Given the description of an element on the screen output the (x, y) to click on. 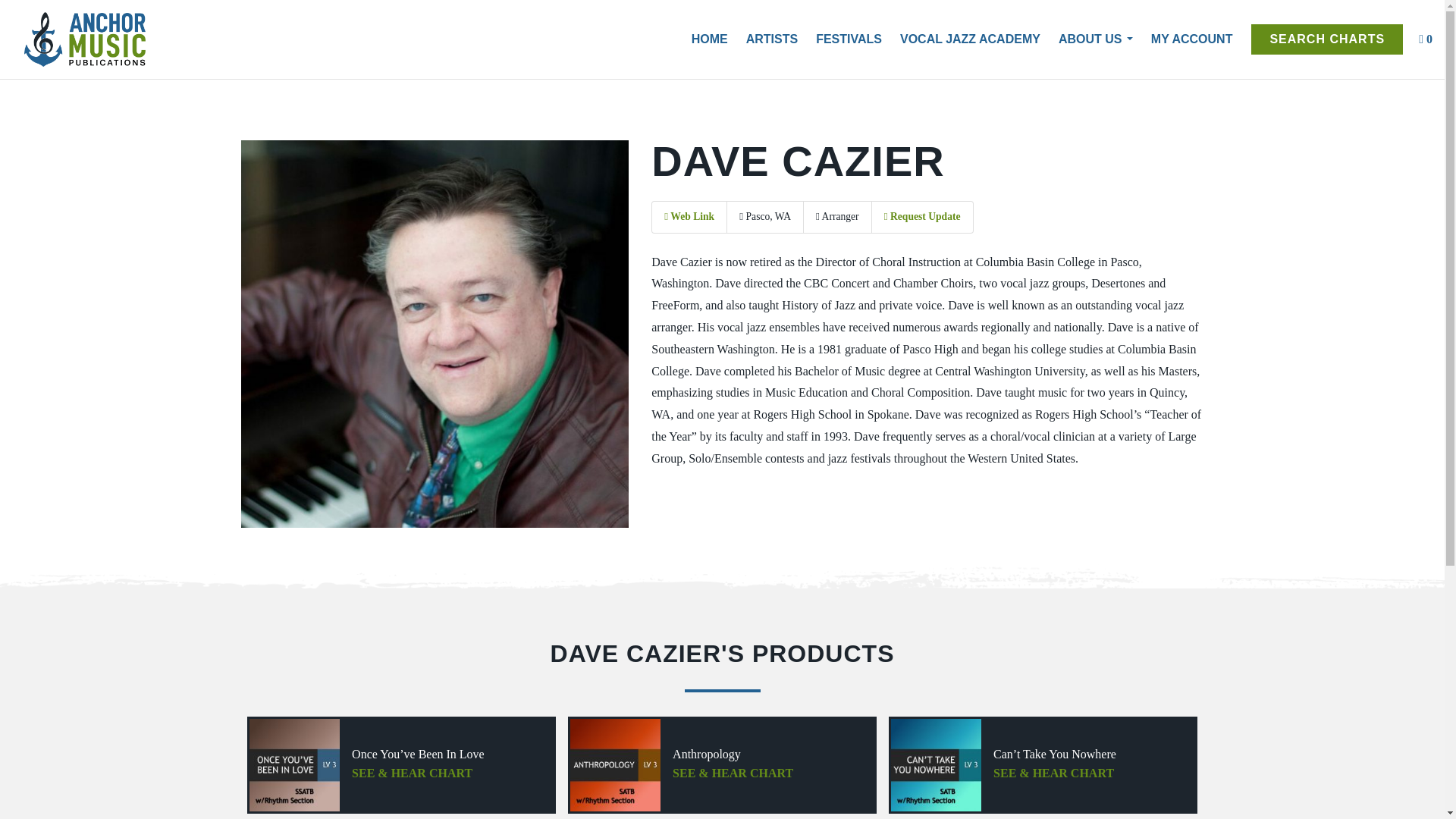
View Chart (401, 765)
MY ACCOUNT (1182, 39)
ABOUT US (1086, 39)
FESTIVALS (839, 39)
Listening Station (1326, 39)
Festivals (839, 39)
Request Update (921, 215)
Website (688, 215)
View Chart (721, 765)
ARTISTS (762, 39)
